Given the description of an element on the screen output the (x, y) to click on. 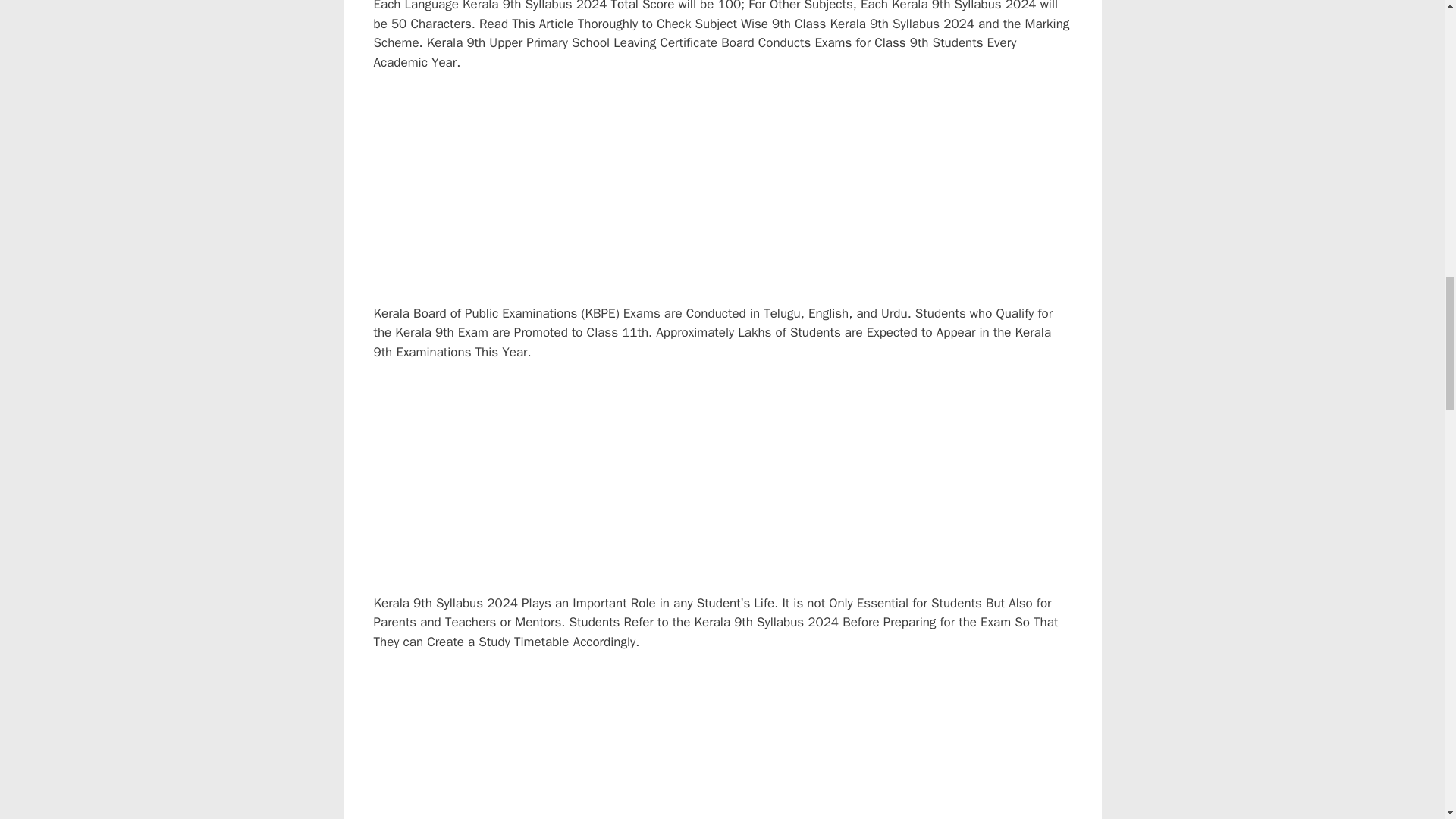
Advertisement (736, 744)
